Given the description of an element on the screen output the (x, y) to click on. 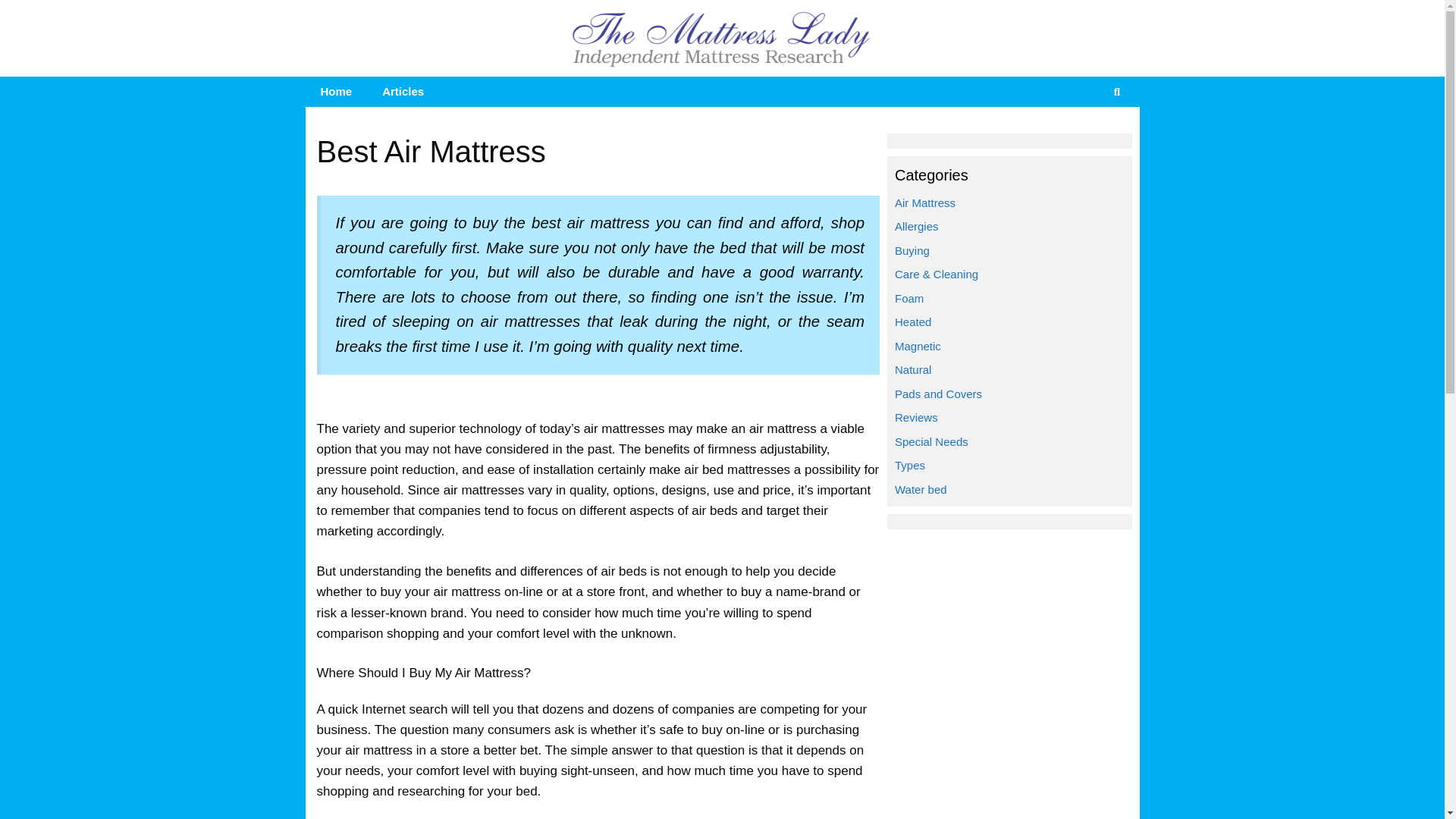
Natural (913, 369)
Types (909, 464)
Home (335, 91)
Foam (909, 297)
Articles (402, 91)
Pads and Covers (938, 393)
Magnetic (917, 345)
Special Needs (931, 440)
Water bed (921, 489)
Heated (913, 321)
Reviews (916, 417)
Air Mattress (925, 202)
Allergies (917, 226)
Buying (912, 250)
